Given the description of an element on the screen output the (x, y) to click on. 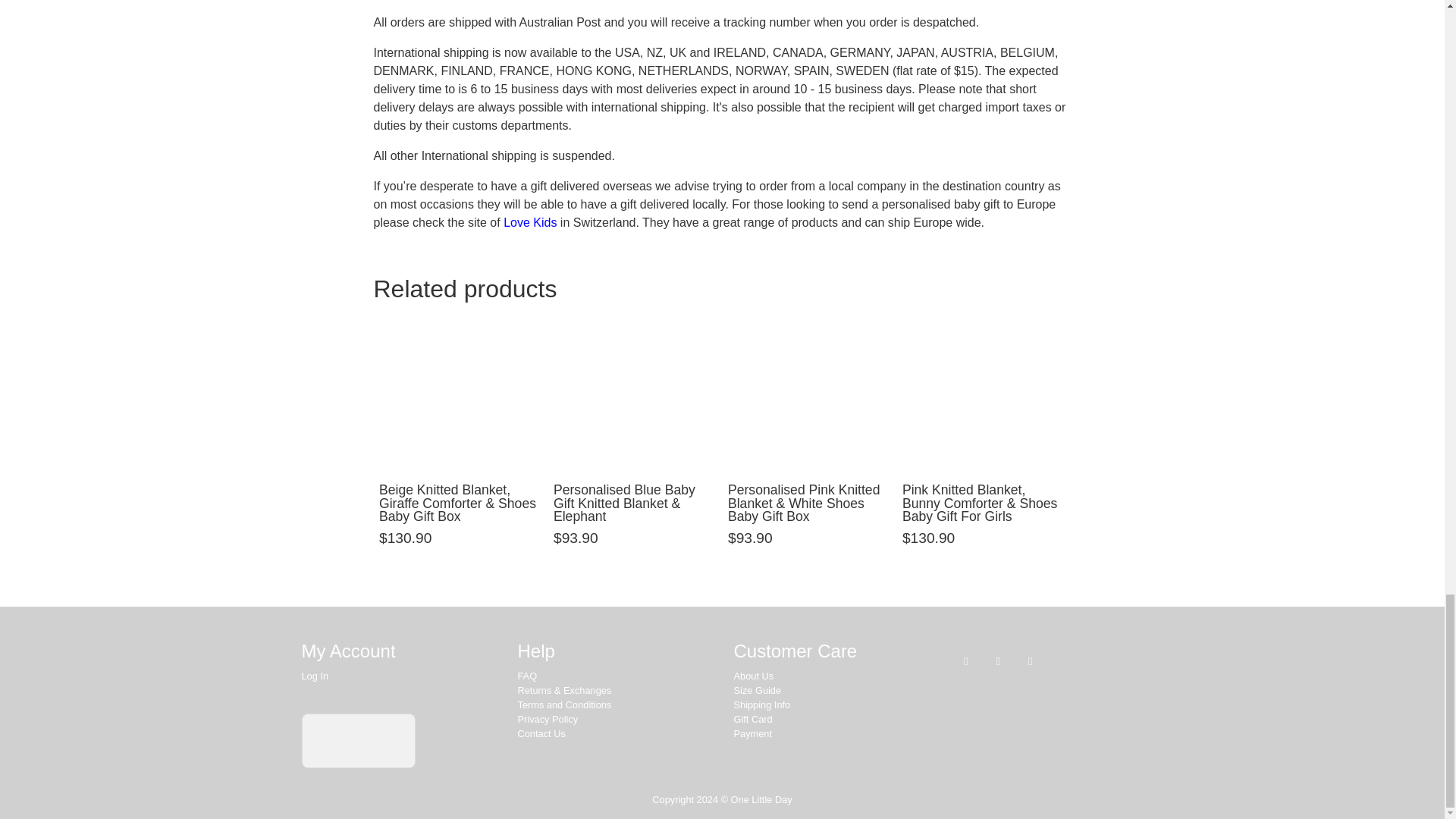
Write a review of One Little Day on Google Business (357, 740)
